Given the description of an element on the screen output the (x, y) to click on. 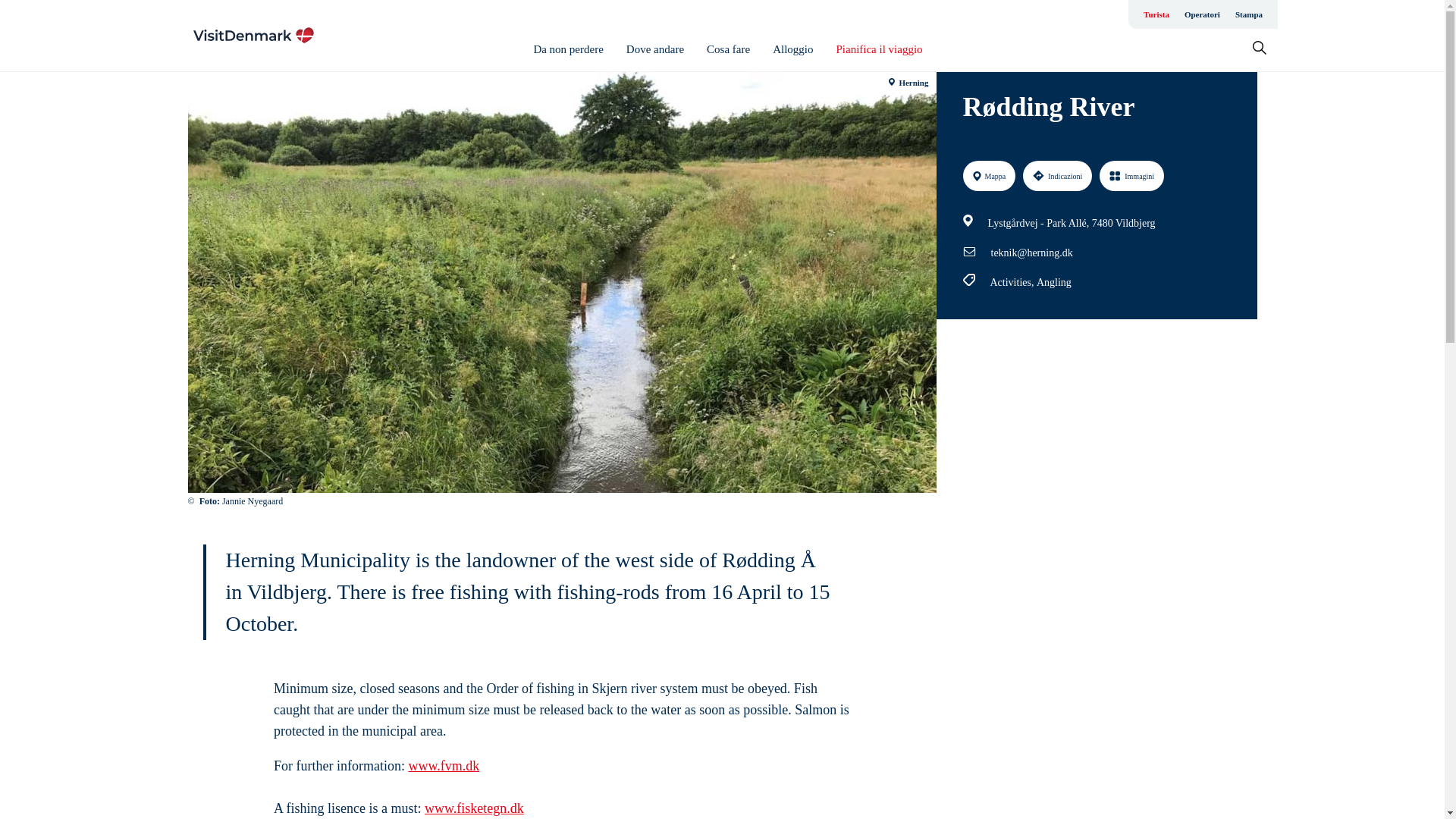
www.fisketegn.dk (474, 807)
Stampa (1248, 14)
Alloggio (792, 49)
www.fvm.dk (443, 765)
Activities,  (1013, 282)
Cosa fare (727, 49)
Herning (908, 82)
Immagini (1131, 175)
Dove andare (655, 49)
Mappa (989, 175)
Angling (1053, 282)
Turista (1155, 14)
Da non perdere (567, 49)
Operatori (1201, 14)
Pianifica il viaggio (878, 49)
